Given the description of an element on the screen output the (x, y) to click on. 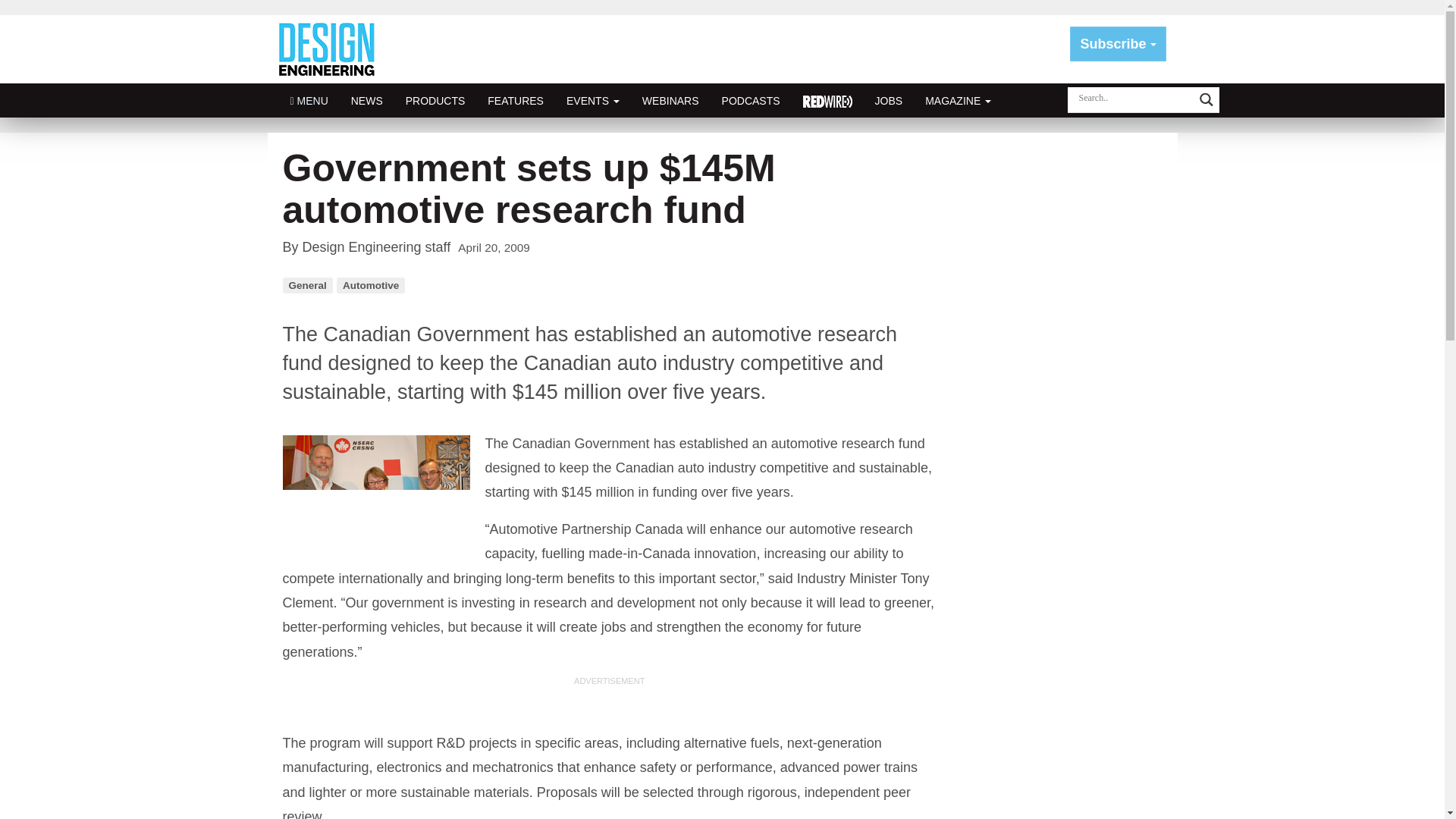
MAGAZINE (958, 100)
Design Engineering (332, 48)
NEWS (366, 100)
WEBINARS (670, 100)
EVENTS (592, 100)
JOBS (888, 100)
PODCASTS (751, 100)
FEATURES (515, 100)
Subscribe (1118, 43)
Click to show site navigation (309, 100)
MENU (309, 100)
PRODUCTS (435, 100)
